Given the description of an element on the screen output the (x, y) to click on. 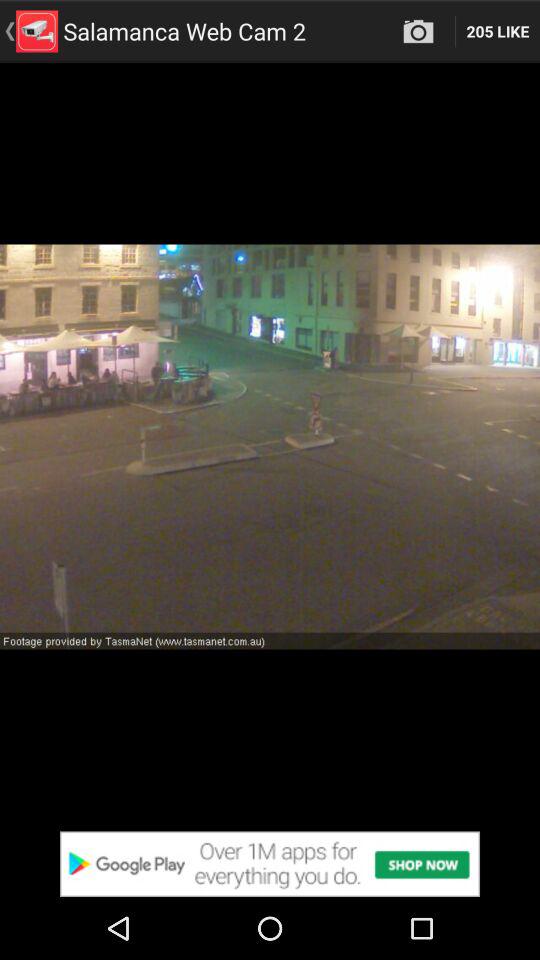
open advertisement (270, 864)
